Given the description of an element on the screen output the (x, y) to click on. 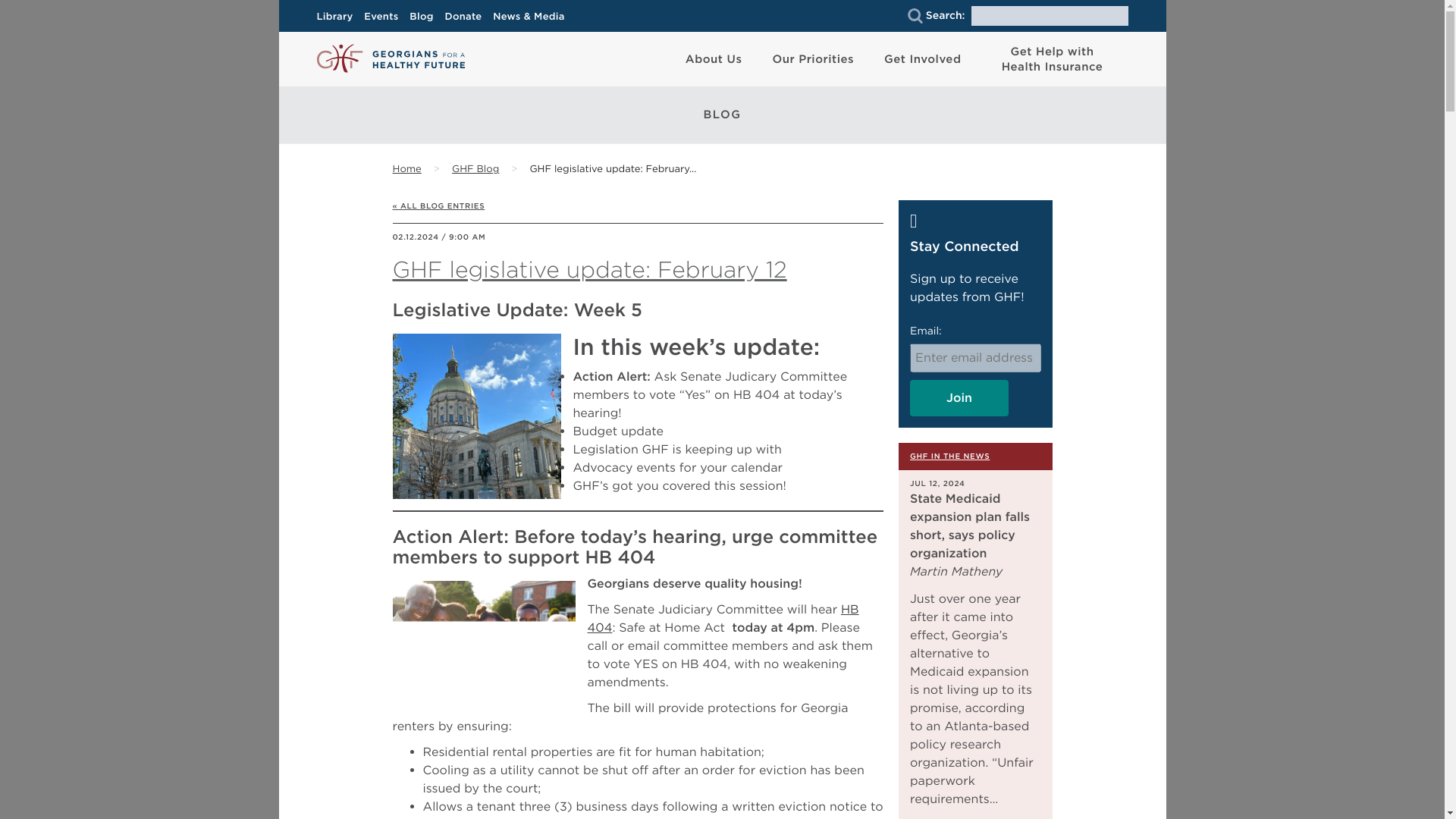
Donate (467, 16)
Library (339, 16)
Events (385, 16)
Category Name (475, 169)
GHF legislative update: February 12 (612, 169)
Blog (425, 16)
